Given the description of an element on the screen output the (x, y) to click on. 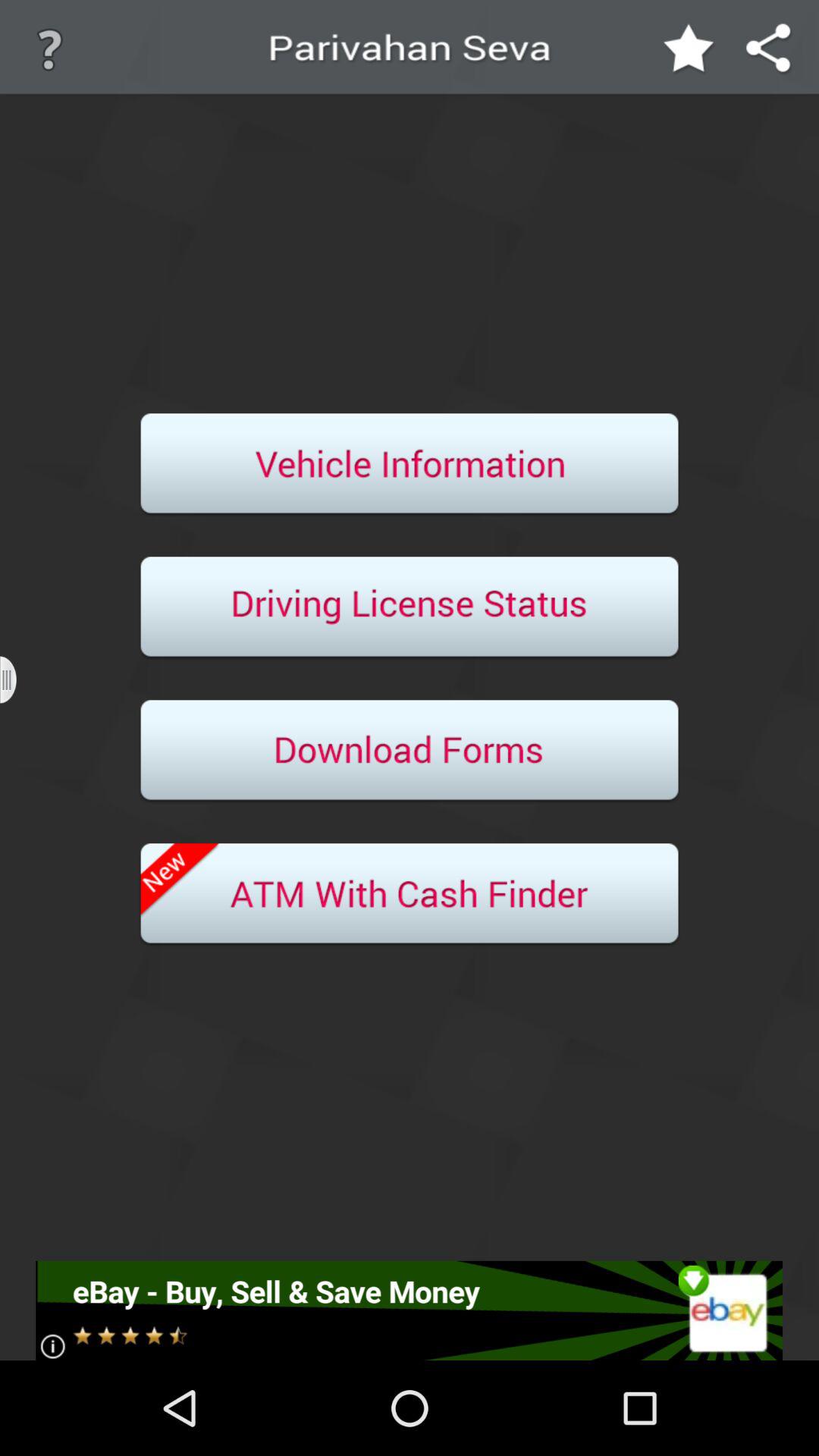
share with friends (769, 49)
